Given the description of an element on the screen output the (x, y) to click on. 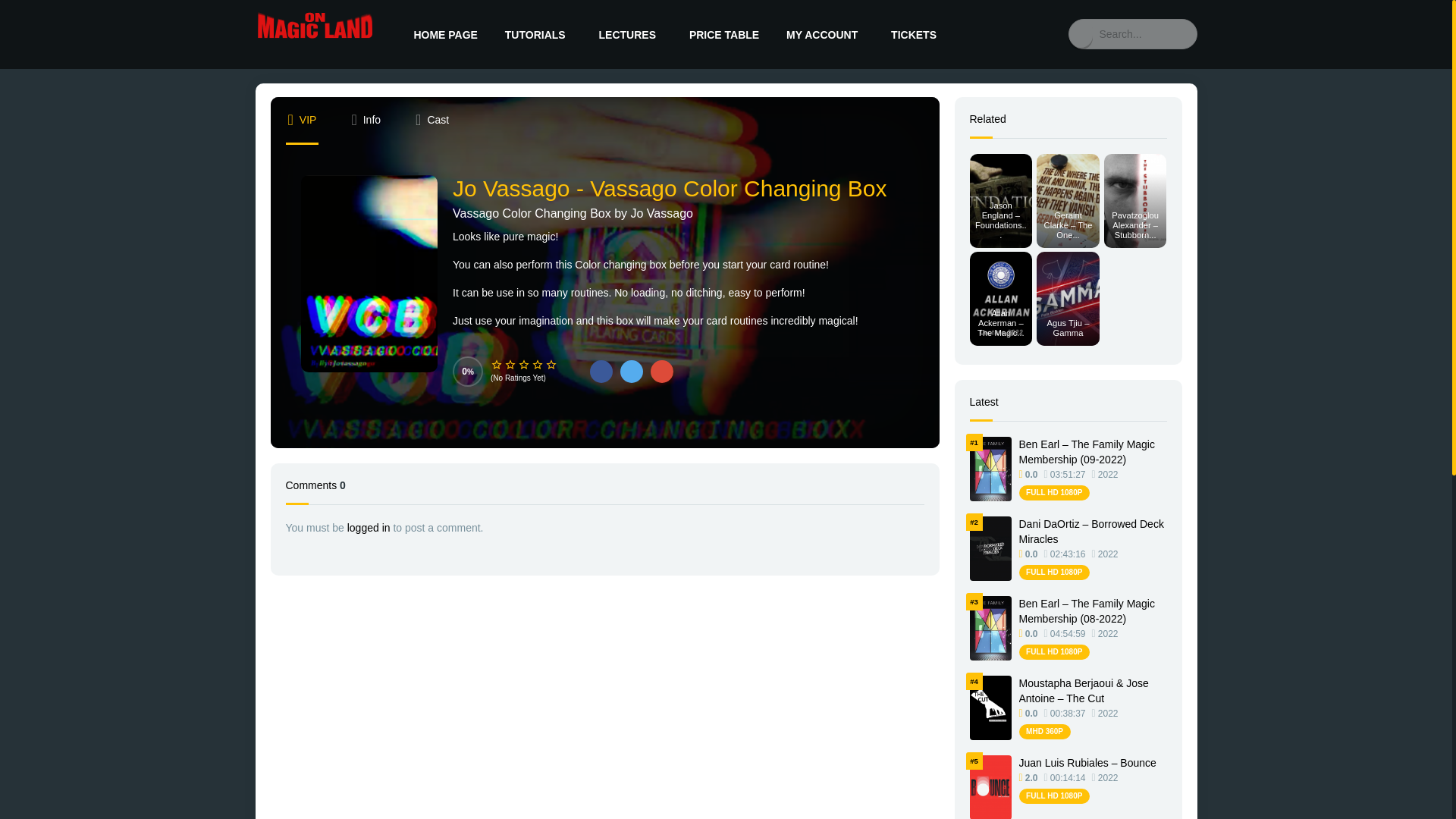
4 Stars (537, 364)
5 Stars (550, 364)
TICKETS (915, 34)
MY ACCOUNT (823, 34)
PRICE TABLE (722, 34)
HOME PAGE (443, 34)
2 Stars (509, 364)
TUTORIALS (536, 34)
1 Star (496, 364)
3 Stars (523, 364)
